Given the description of an element on the screen output the (x, y) to click on. 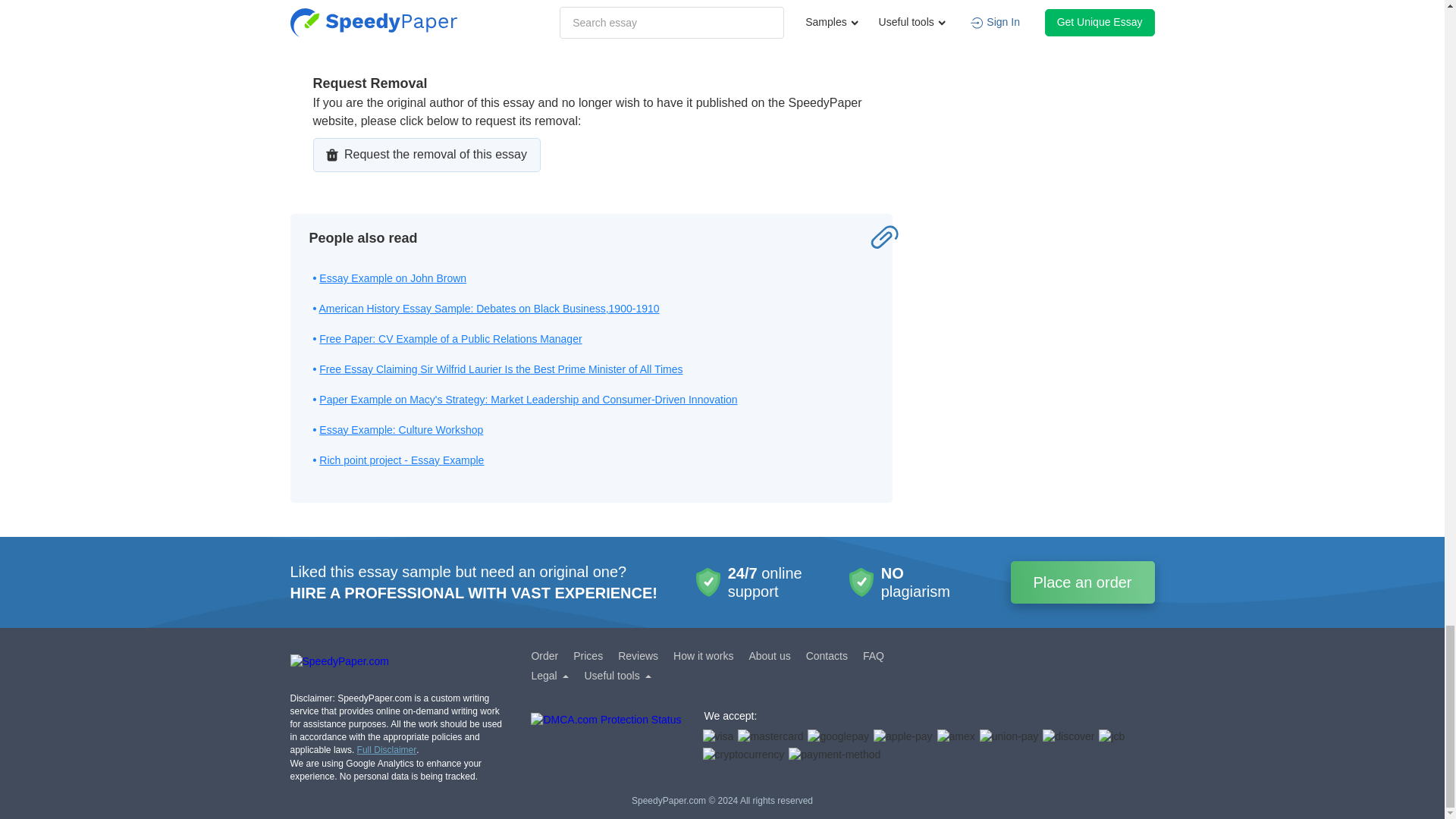
DMCA.com Protection Status (606, 738)
jcb (1111, 736)
union-pay (1009, 736)
cryptocurrency (742, 754)
googlepay (838, 736)
discover (1068, 736)
payment-method (834, 754)
visa (717, 736)
amex (956, 736)
mastercard (770, 736)
apple-pay (903, 736)
